Given the description of an element on the screen output the (x, y) to click on. 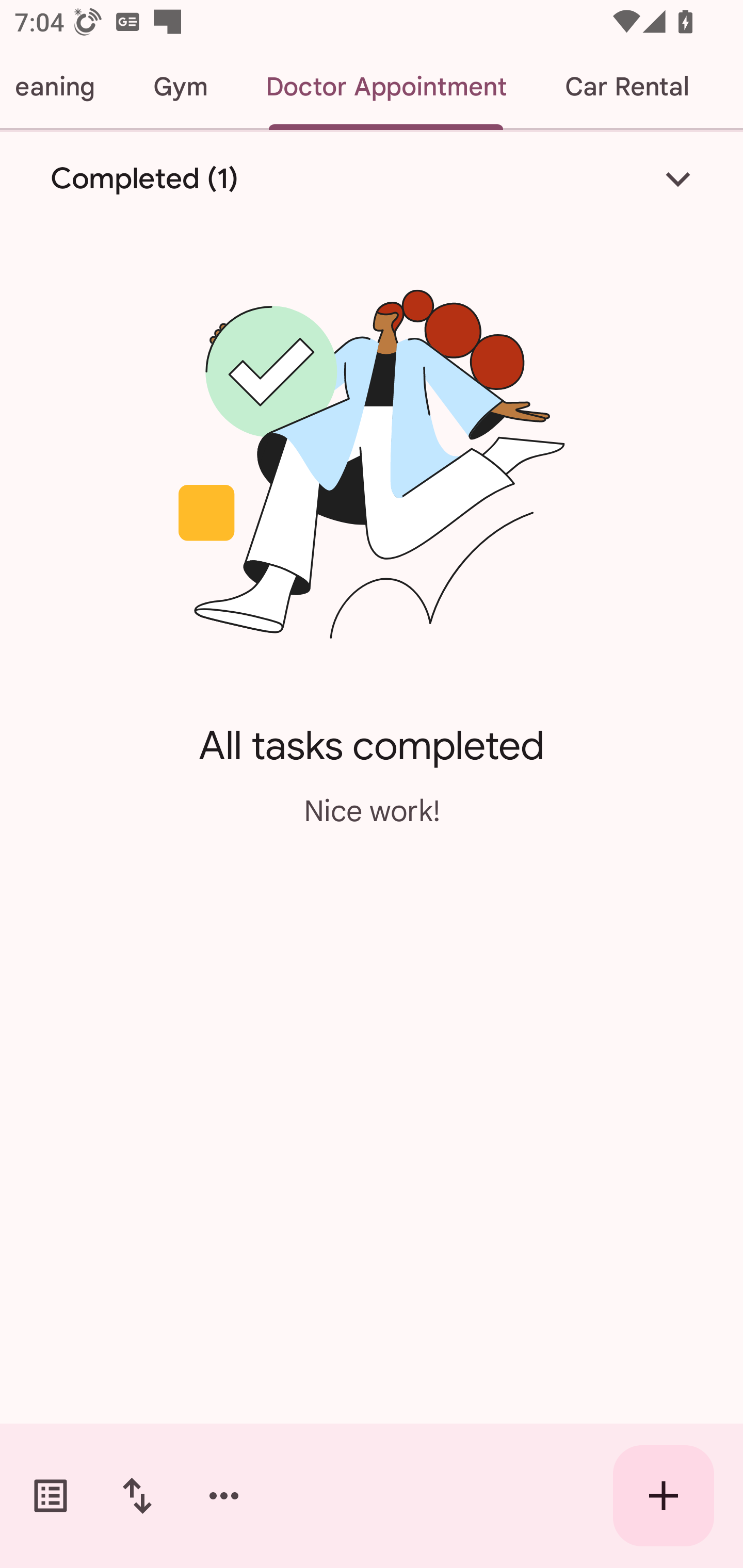
Cleaning (62, 86)
Gym (180, 86)
Car Rental (626, 86)
Completed (1) (371, 178)
Switch task lists (50, 1495)
Create new task (663, 1495)
Change sort order (136, 1495)
More options (223, 1495)
